Given the description of an element on the screen output the (x, y) to click on. 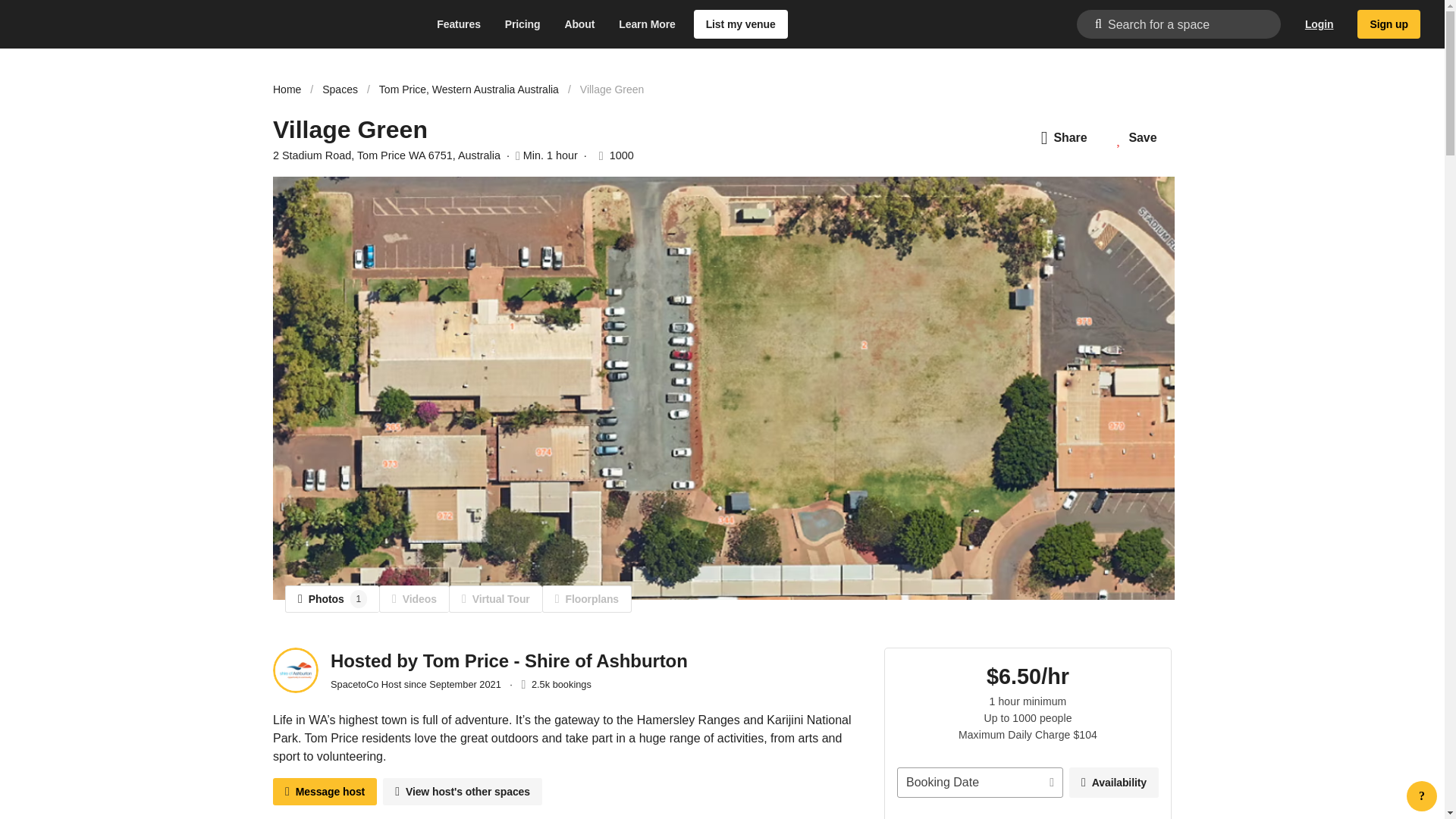
Floorplans (586, 598)
Home (287, 89)
Share (1064, 137)
View host's other spaces (461, 791)
Pricing (523, 23)
List my venue (740, 23)
Sign up (1388, 23)
Save (1137, 137)
Virtual Tour (494, 598)
